Given the description of an element on the screen output the (x, y) to click on. 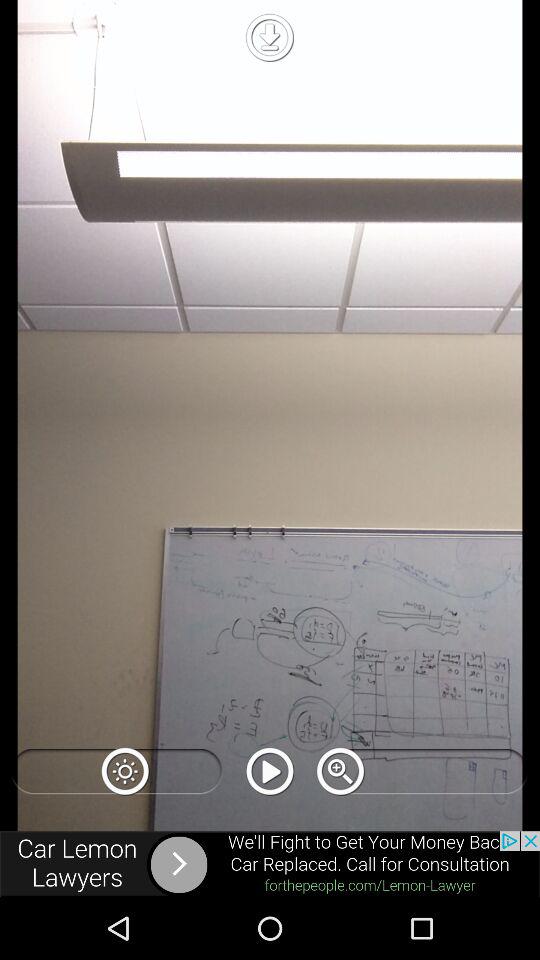
press play (269, 771)
